Given the description of an element on the screen output the (x, y) to click on. 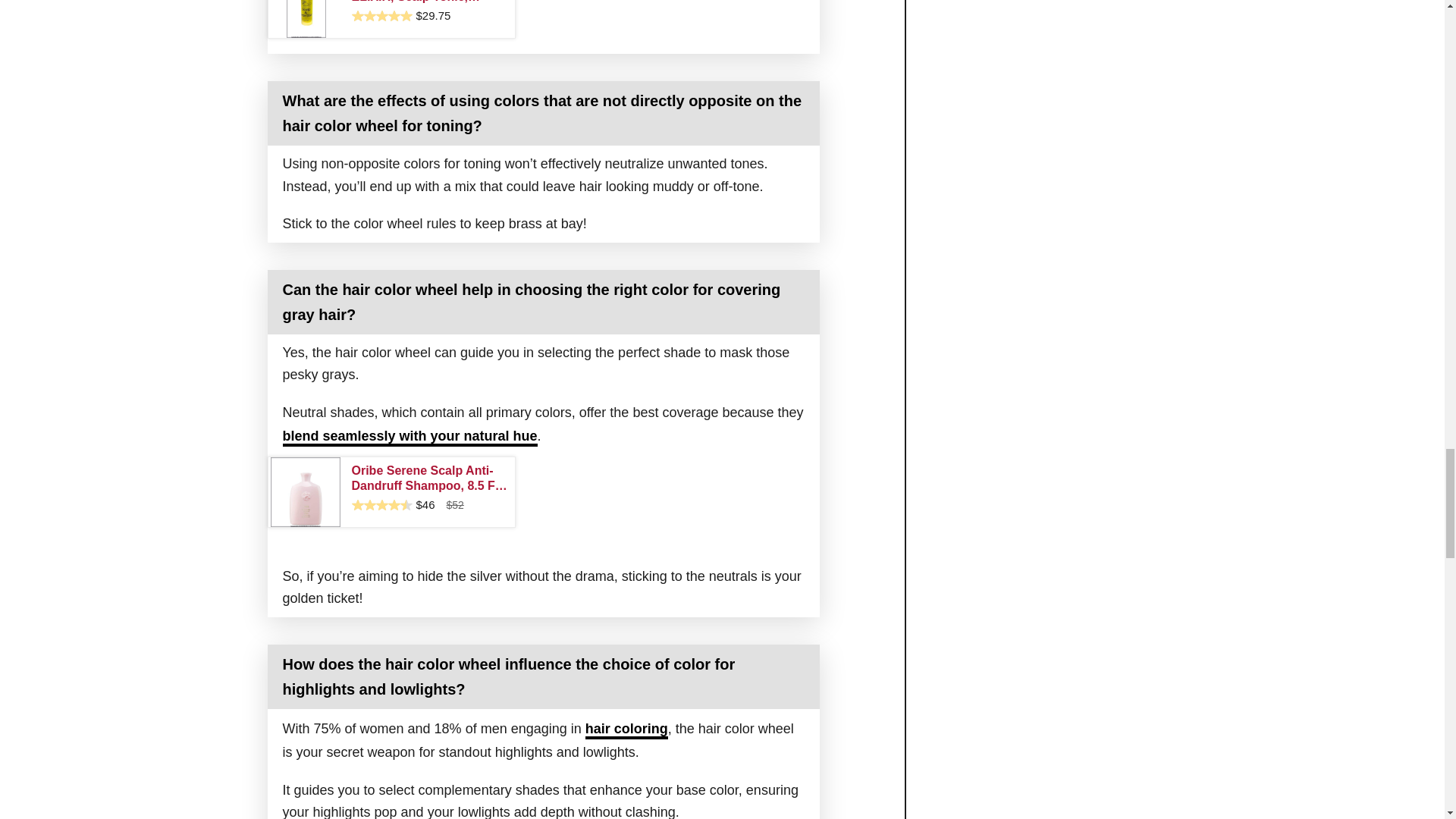
blend seamlessly with your natural hue (409, 437)
hair coloring (626, 730)
